Given the description of an element on the screen output the (x, y) to click on. 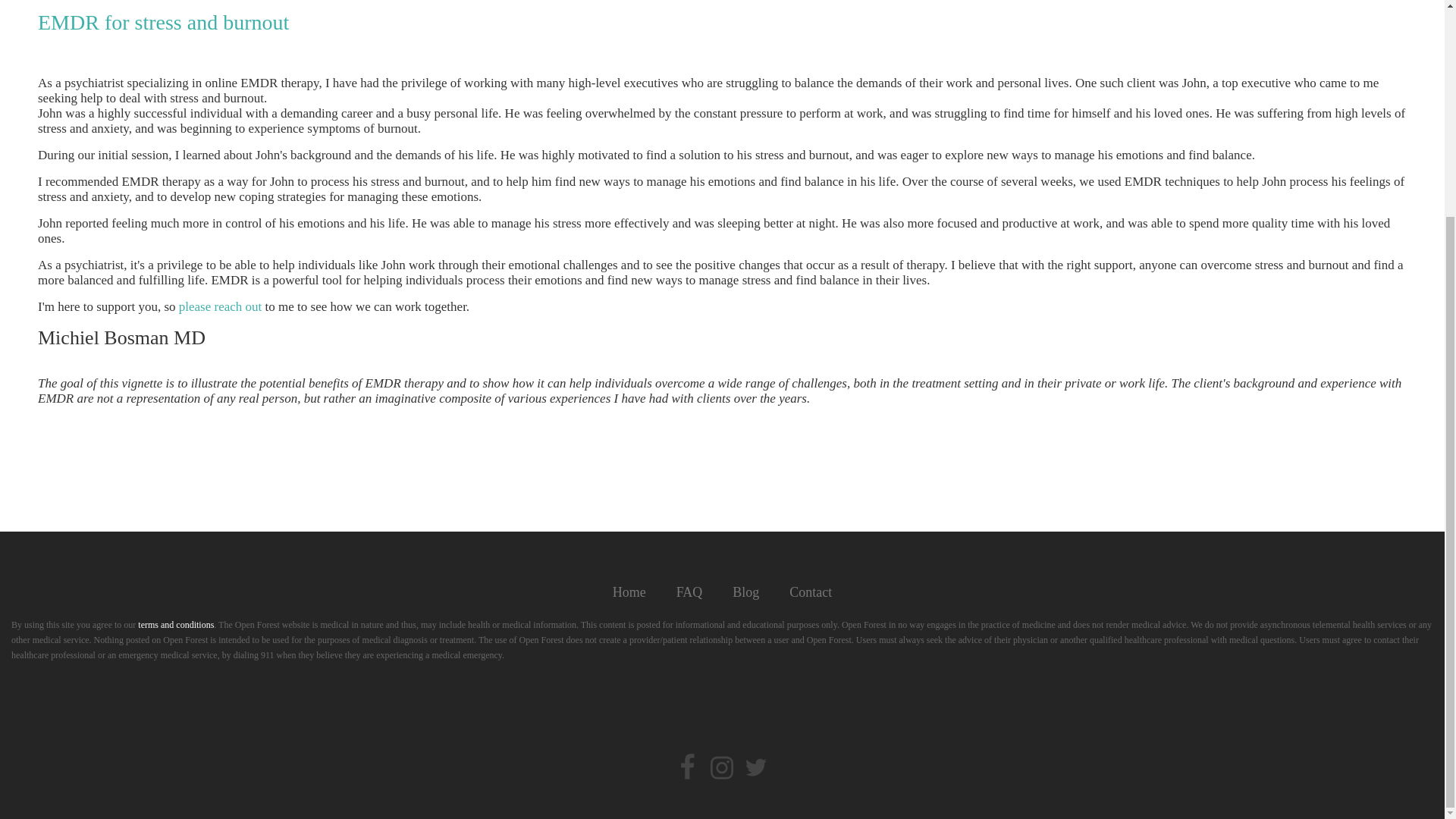
terms and conditions (176, 624)
Contact (810, 592)
please reach out (220, 306)
FAQ (689, 592)
Home (628, 592)
Blog (745, 592)
